Given the description of an element on the screen output the (x, y) to click on. 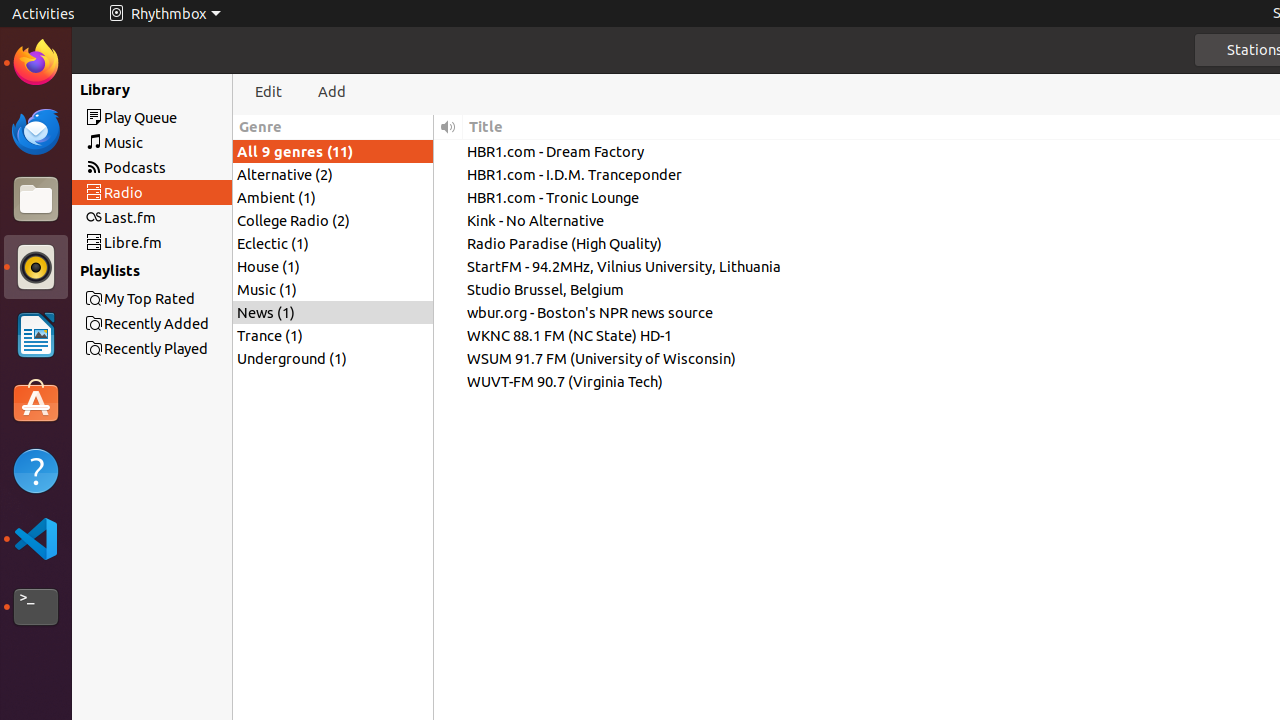
li.txt Element type: label (259, 89)
Eclectic (1) Element type: table-cell (333, 243)
Terminal Element type: push-button (36, 607)
Play Queue Element type: table-cell (188, 117)
